Given the description of an element on the screen output the (x, y) to click on. 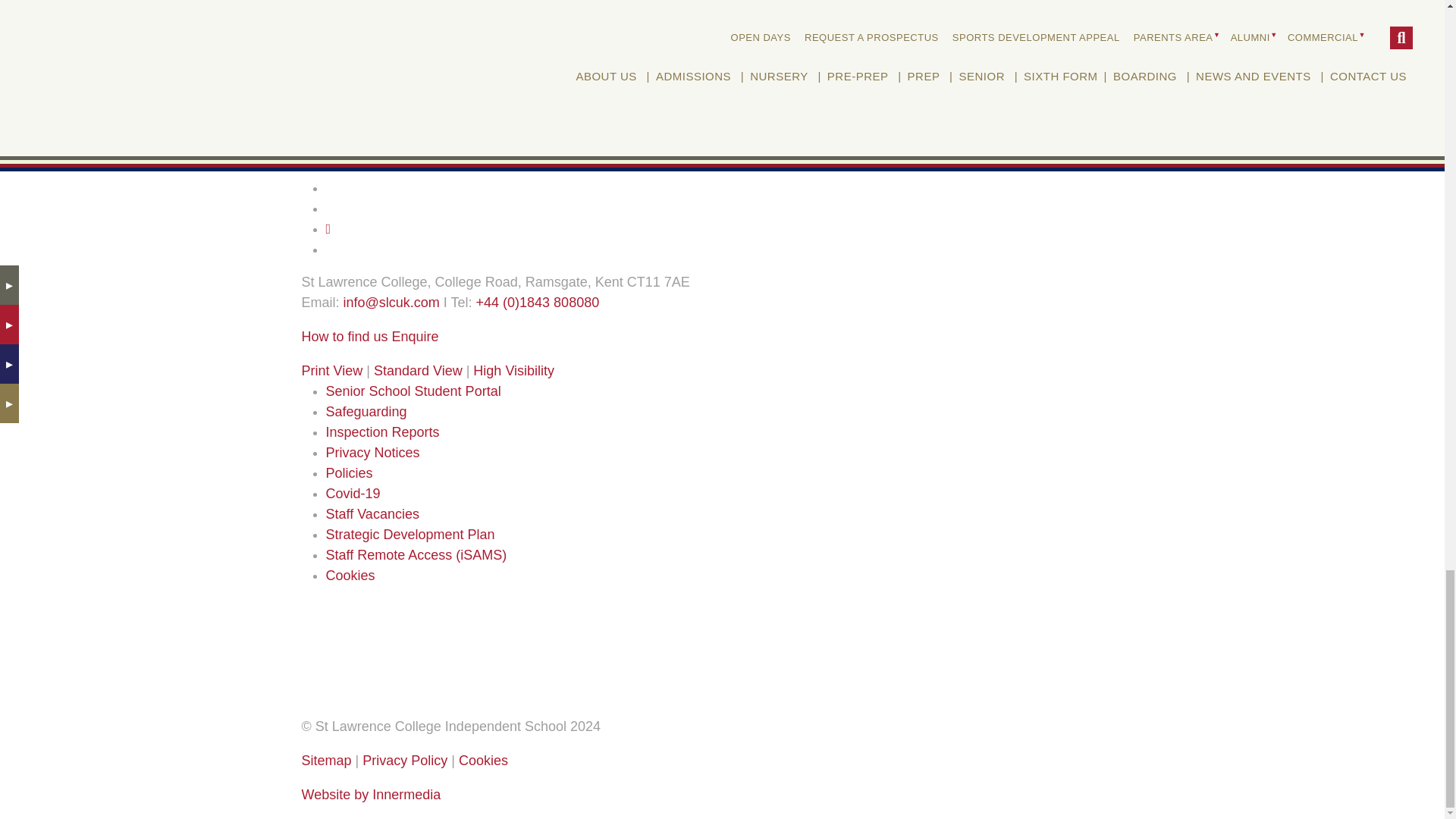
Location (344, 336)
Enquiry Form (415, 336)
Switch to High Visibility (513, 370)
Switch to Standard Visibility (418, 370)
Switch to Print (331, 370)
